Given the description of an element on the screen output the (x, y) to click on. 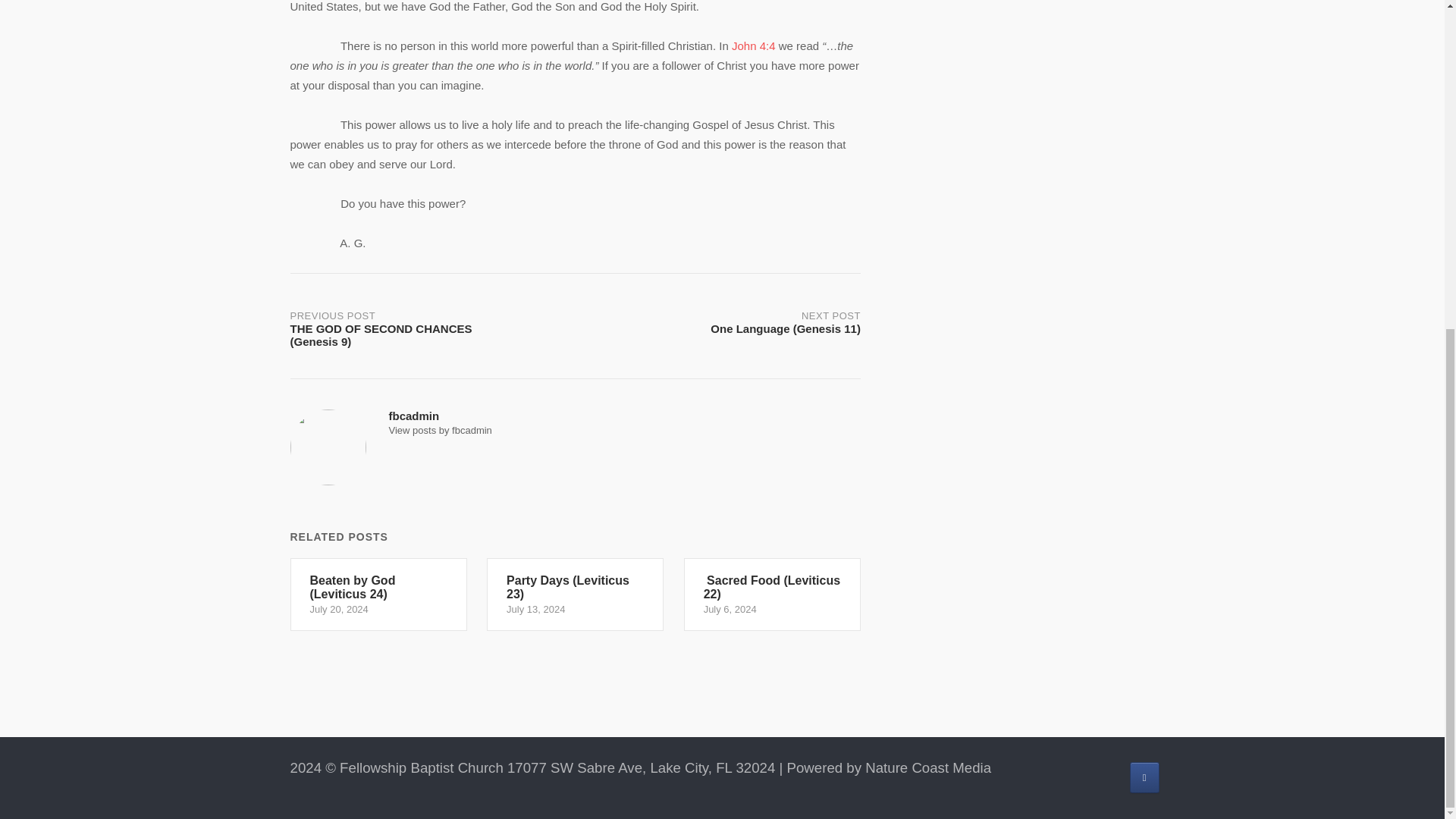
John 4:4 (754, 45)
View posts by fbcadmin (440, 430)
Fellowship Baptist Church on Facebook (1143, 777)
Powered by Nature Coast Media (889, 767)
17077 SW Sabre Ave, Lake City, FL 32024 (640, 767)
